Given the description of an element on the screen output the (x, y) to click on. 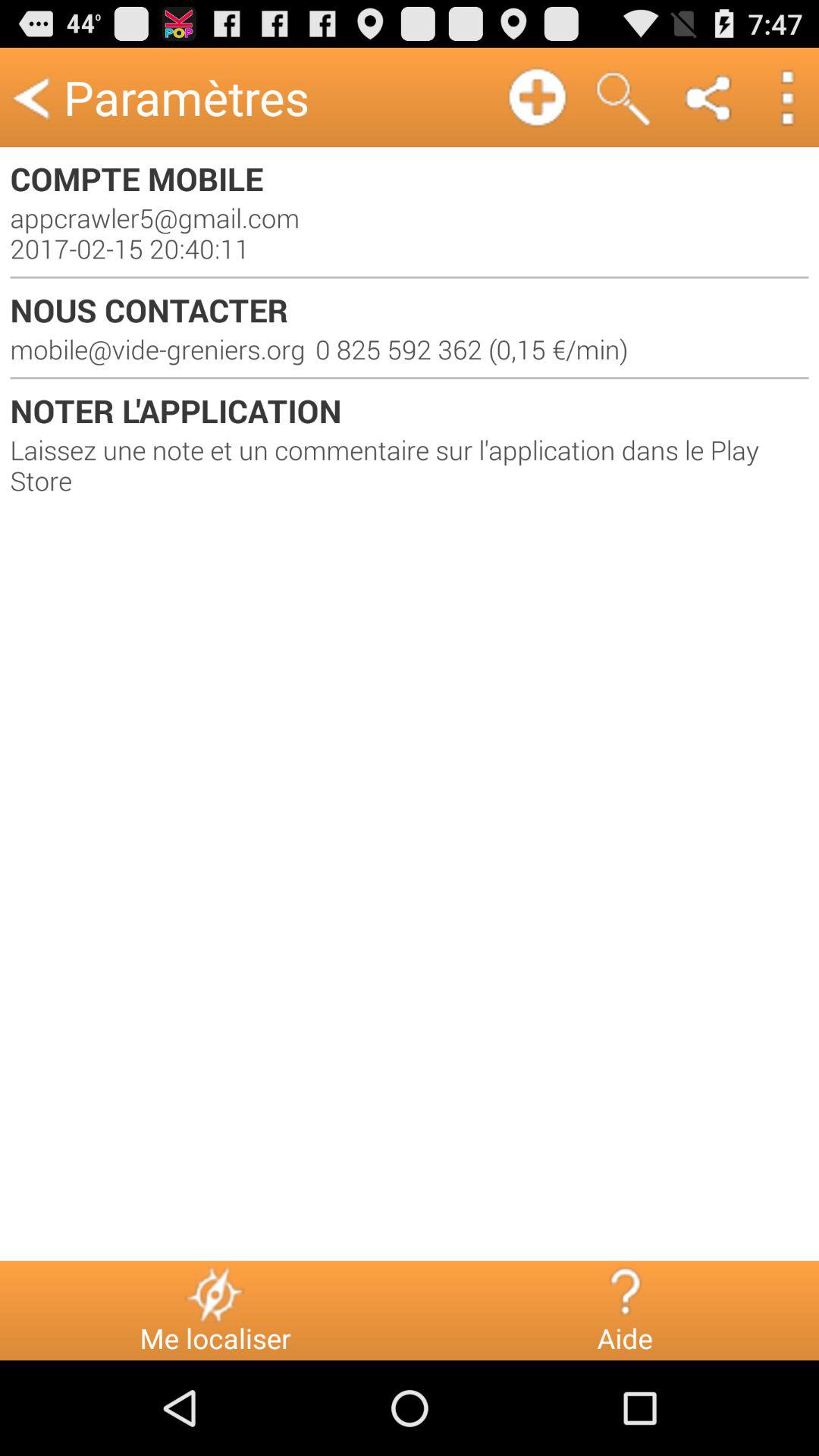
launch appcrawler5 gmail com item (409, 233)
